Given the description of an element on the screen output the (x, y) to click on. 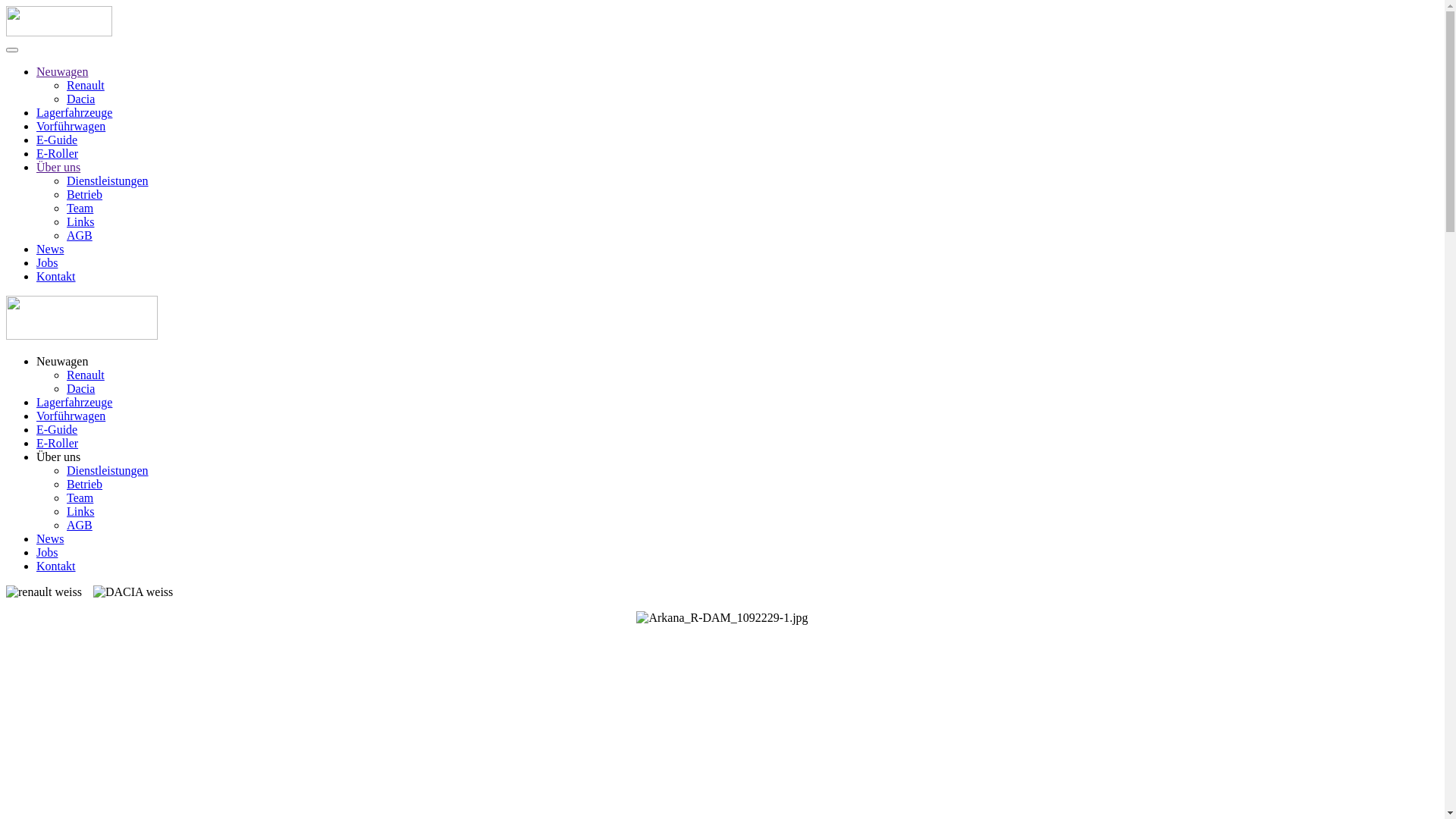
Dienstleistungen Element type: text (107, 180)
Dacia Element type: text (80, 98)
Betrieb Element type: text (84, 483)
Neuwagen Element type: text (61, 360)
Team Element type: text (79, 207)
Skip to main content Element type: text (56, 12)
Lagerfahrzeuge Element type: text (74, 401)
AGB Element type: text (79, 235)
Kontakt Element type: text (55, 565)
News Element type: text (49, 248)
E-Guide Element type: text (56, 139)
Betrieb Element type: text (84, 194)
Links Element type: text (80, 511)
AGB Element type: text (79, 524)
Renault Element type: text (85, 374)
Team Element type: text (79, 497)
Dacia Element type: text (80, 388)
News Element type: text (49, 538)
Lagerfahrzeuge Element type: text (74, 112)
E-Roller Element type: text (57, 442)
E-Guide Element type: text (56, 429)
Links Element type: text (80, 221)
E-Roller Element type: text (57, 153)
Kontakt Element type: text (55, 275)
Dienstleistungen Element type: text (107, 470)
Neuwagen Element type: text (61, 71)
Jobs Element type: text (46, 262)
Jobs Element type: text (46, 552)
Renault Element type: text (85, 84)
